Given the description of an element on the screen output the (x, y) to click on. 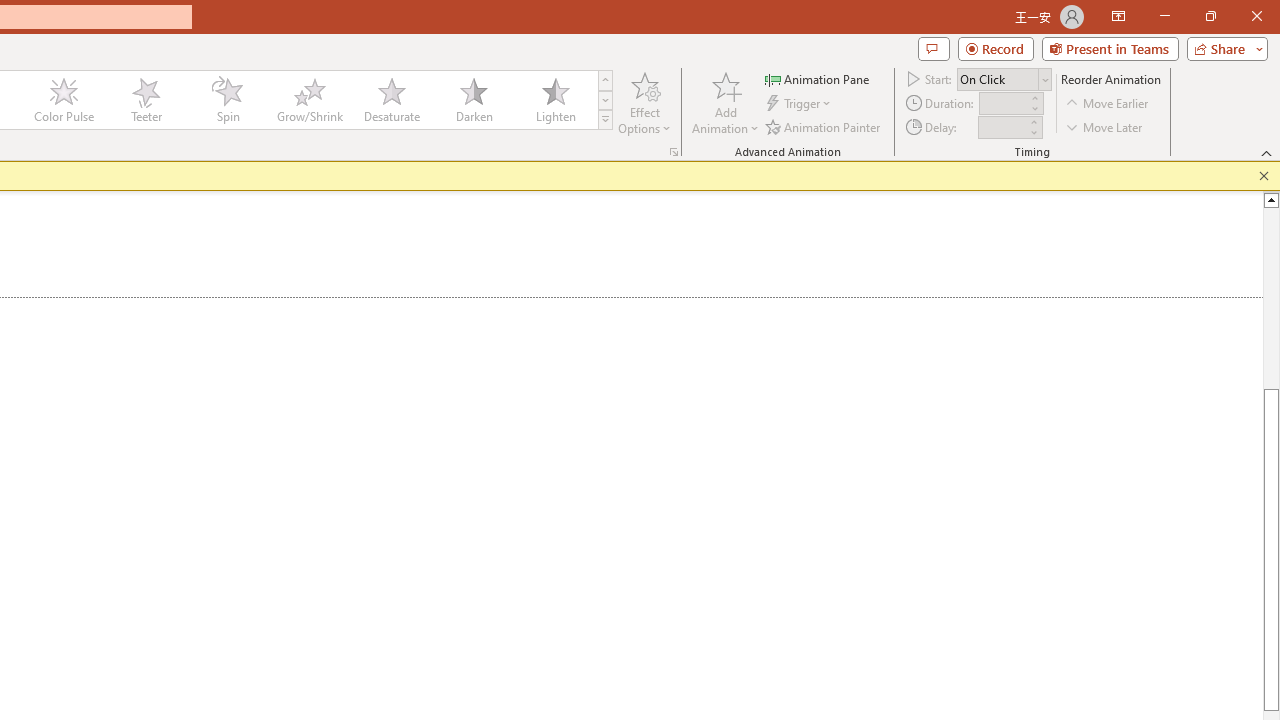
Animation Pane (818, 78)
Teeter (145, 100)
Animation Styles (605, 120)
Color Pulse (63, 100)
Lighten (555, 100)
Spin (227, 100)
